Given the description of an element on the screen output the (x, y) to click on. 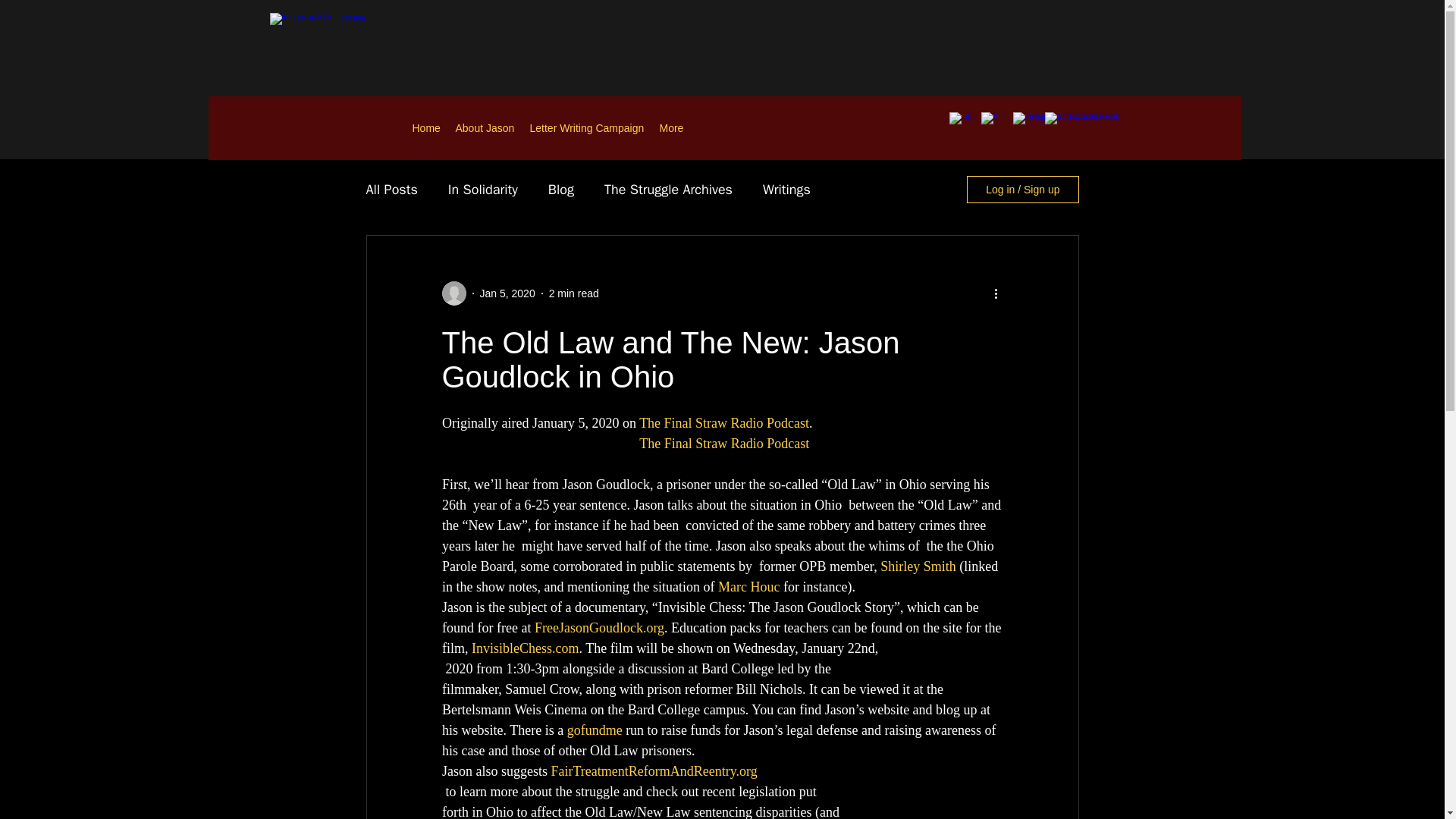
The Final Straw Radio Podcast (724, 443)
About Jason (483, 128)
FairTreatmentReformAndReentry.org (653, 770)
gofundme (593, 729)
In Solidarity (483, 189)
Letter Writing Campaign (585, 128)
Jan 5, 2020 (506, 292)
Writings (786, 189)
InvisibleChess.com (525, 648)
Blog (560, 189)
